Given the description of an element on the screen output the (x, y) to click on. 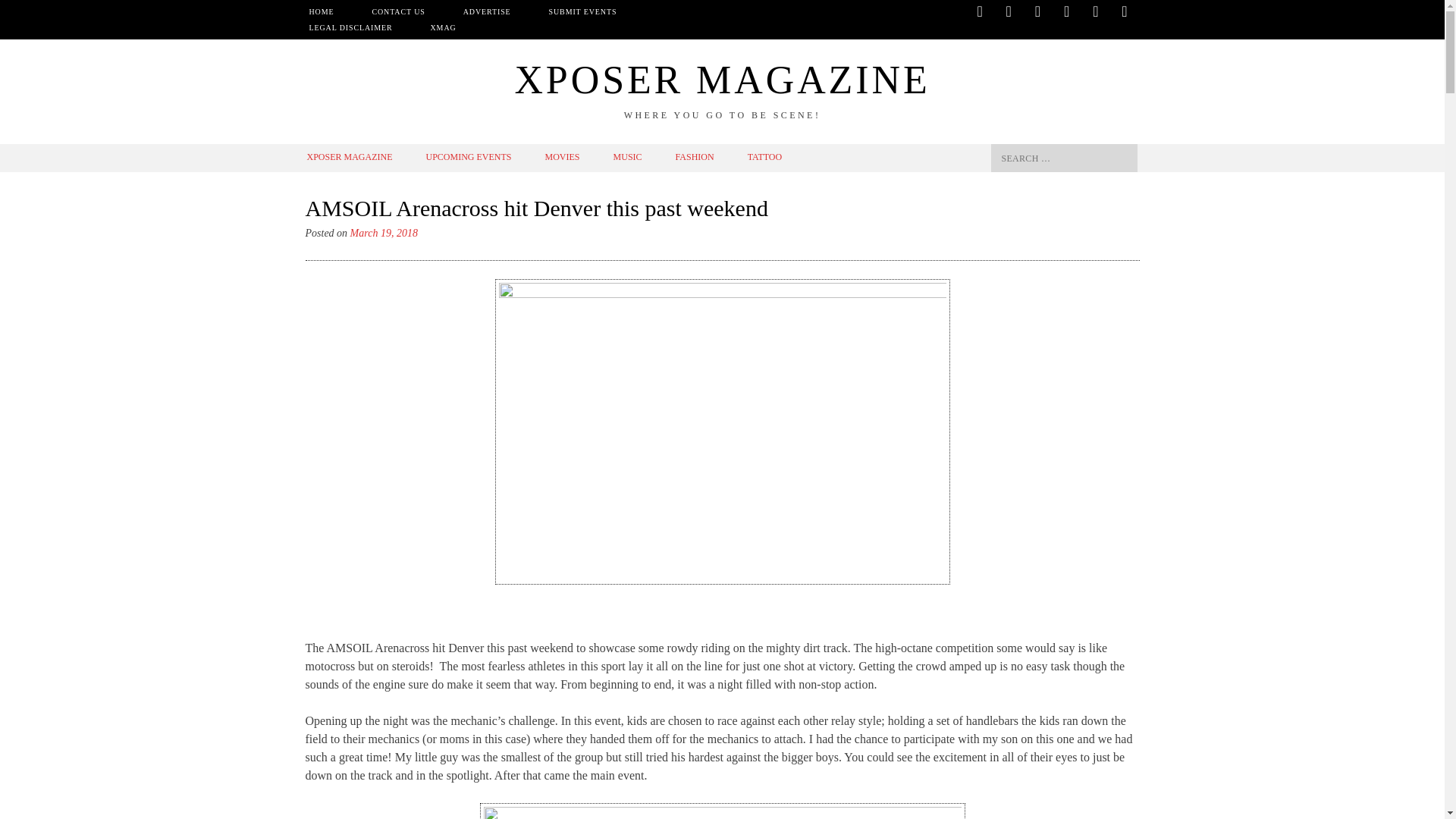
HOME (320, 11)
XPOSER MAGAZINE (349, 157)
FASHION (694, 157)
XPOSER MAGAZINE (721, 79)
SKIP TO CONTENT (306, 150)
MUSIC (627, 157)
March 19, 2018 (383, 233)
TATTOO (763, 157)
ADVERTISE (486, 11)
XMAG (444, 27)
